Given the description of an element on the screen output the (x, y) to click on. 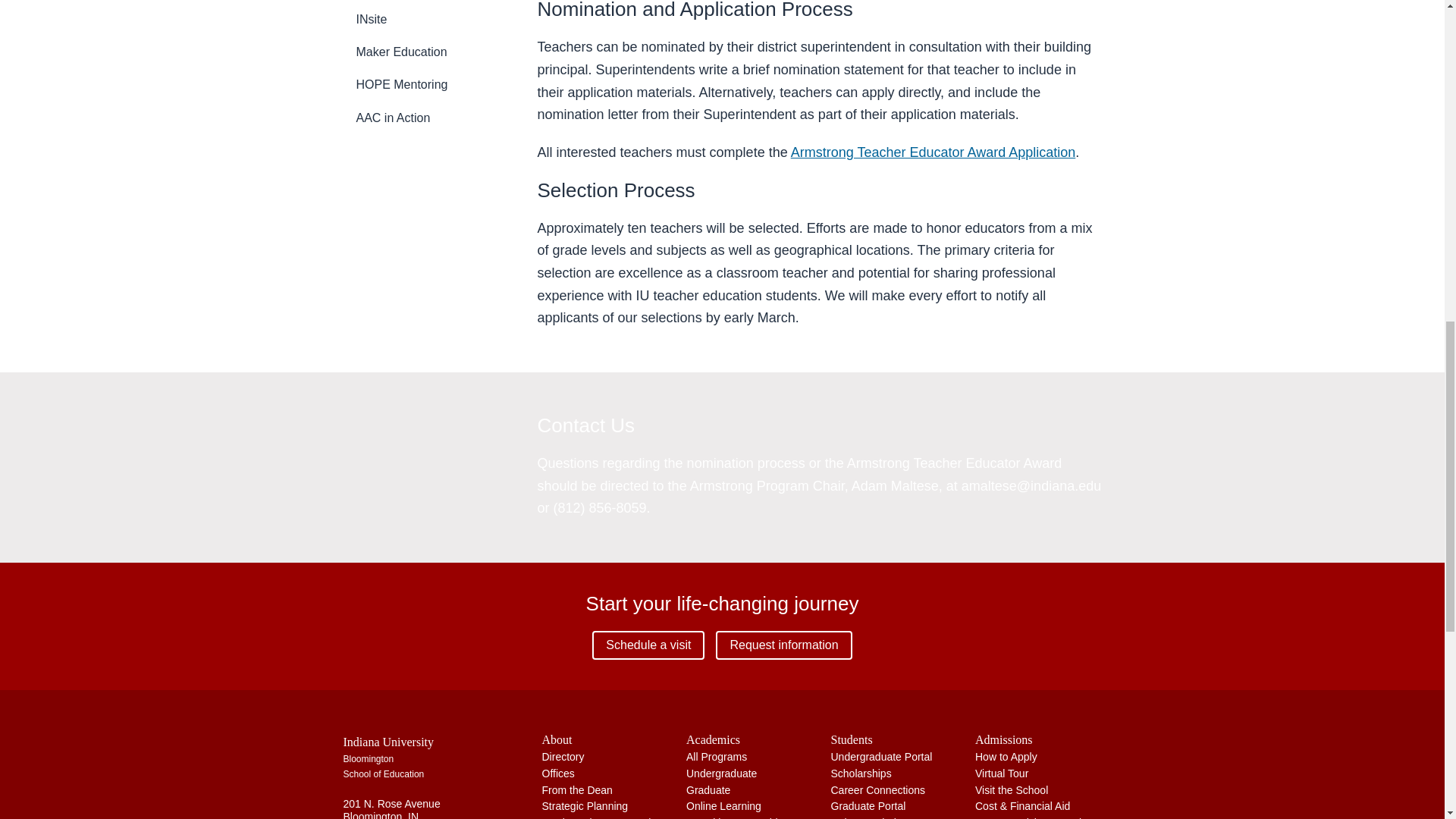
Offices (557, 773)
From the Dean (576, 789)
100th Anniversary Book (597, 817)
Directory (562, 756)
About (604, 739)
Schedule a campus visit (648, 645)
Request information (783, 645)
Strategic Planning (584, 806)
